Given the description of an element on the screen output the (x, y) to click on. 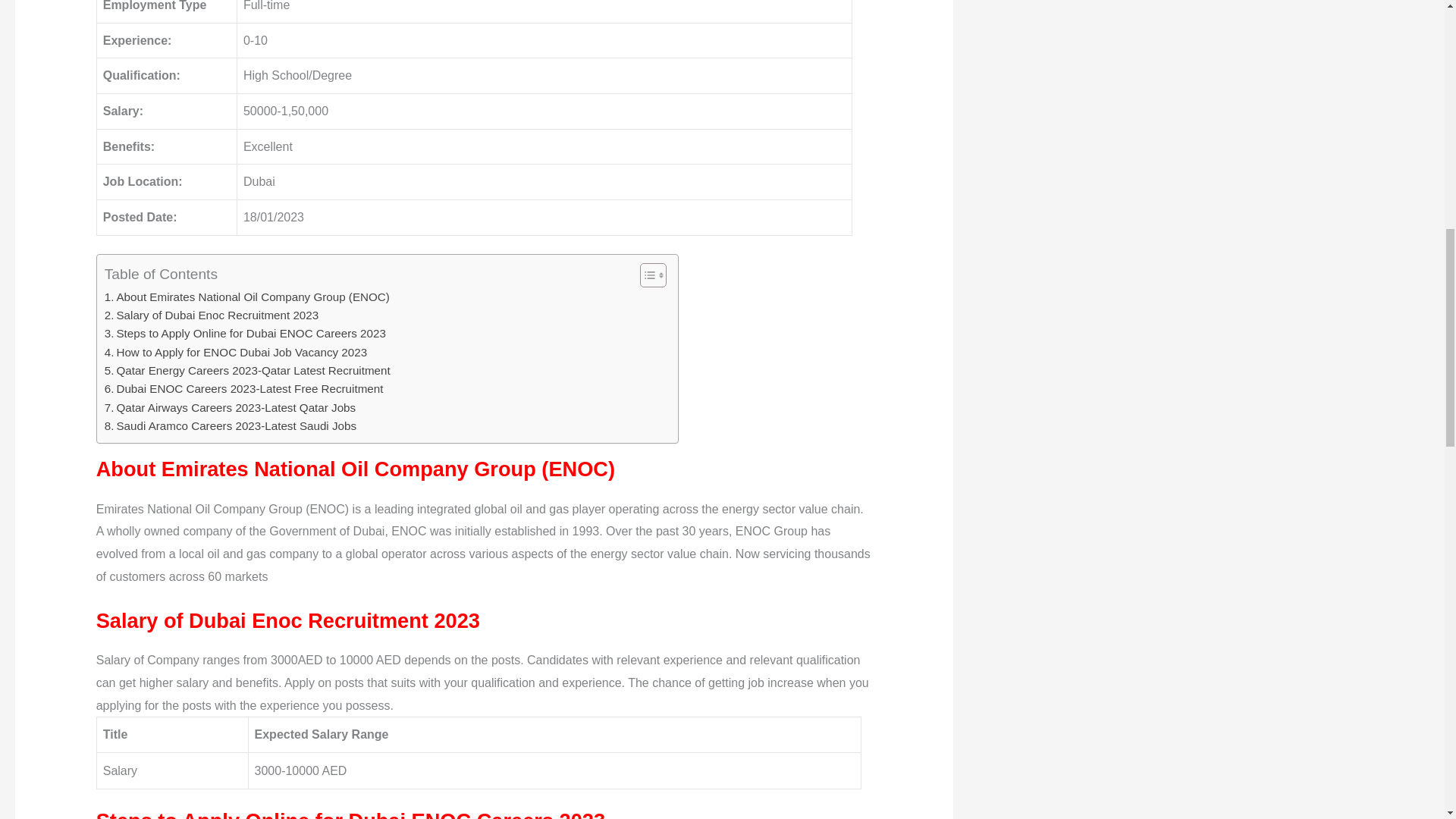
Saudi Aramco Careers 2023-Latest Saudi Jobs (230, 425)
Qatar Airways Careers 2023-Latest Qatar Jobs (229, 407)
Salary of Dubai Enoc Recruitment 2023 (211, 315)
How to Apply for ENOC Dubai Job Vacancy 2023 (235, 352)
Steps to Apply Online for Dubai ENOC Careers 2023 (244, 333)
Dubai ENOC Careers 2023-Latest Free Recruitment (244, 389)
Qatar Energy Careers 2023-Qatar Latest Recruitment (247, 370)
